Given the description of an element on the screen output the (x, y) to click on. 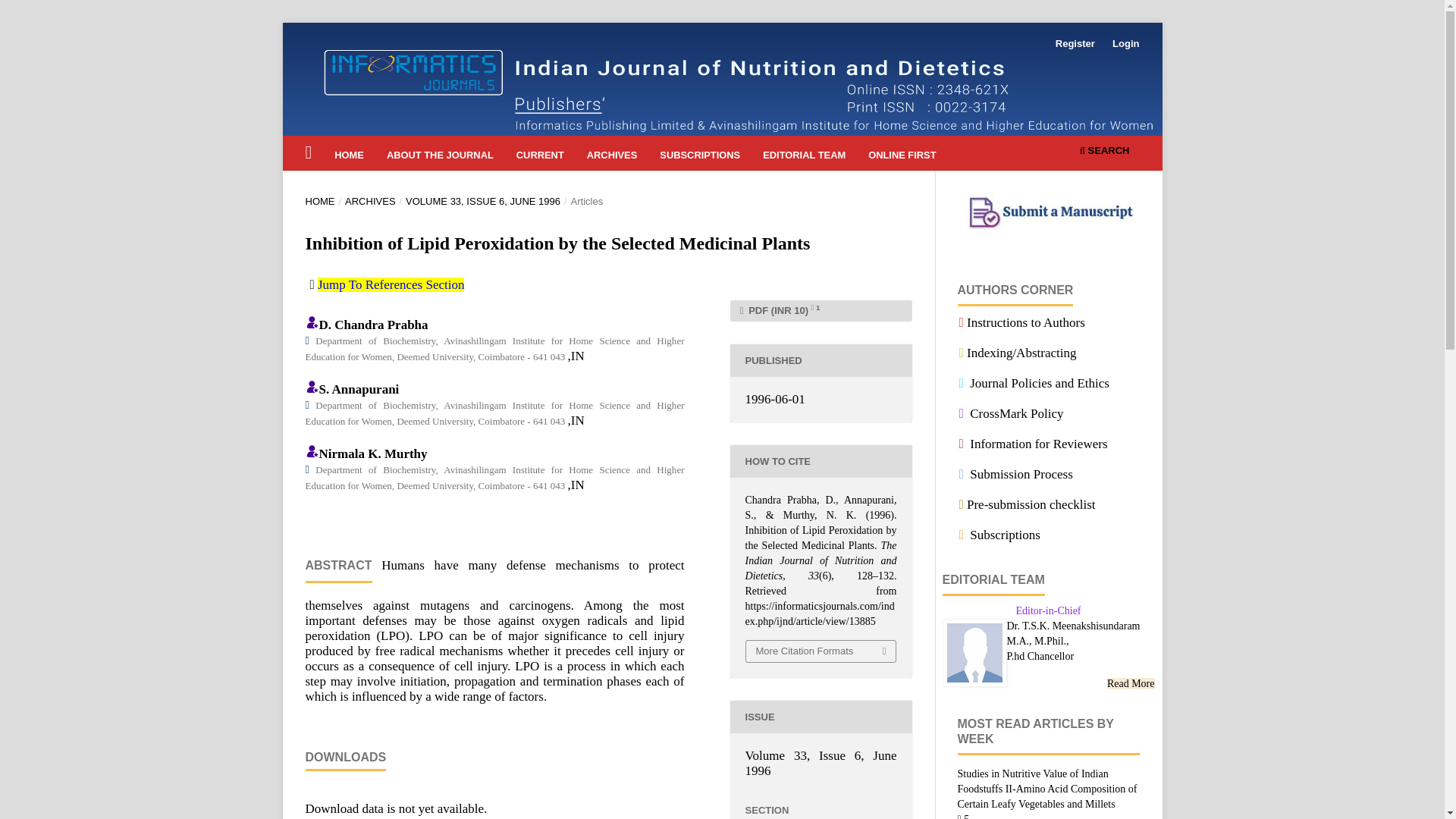
Jump To References Section (390, 284)
CURRENT (540, 157)
SUBSCRIPTIONS (700, 157)
More Citation Formats (820, 650)
SEARCH (1104, 152)
ARCHIVES (370, 201)
HOME (349, 157)
ARCHIVES (611, 157)
Register (1075, 43)
Volume 33, Issue 6, June 1996 (820, 763)
